Given the description of an element on the screen output the (x, y) to click on. 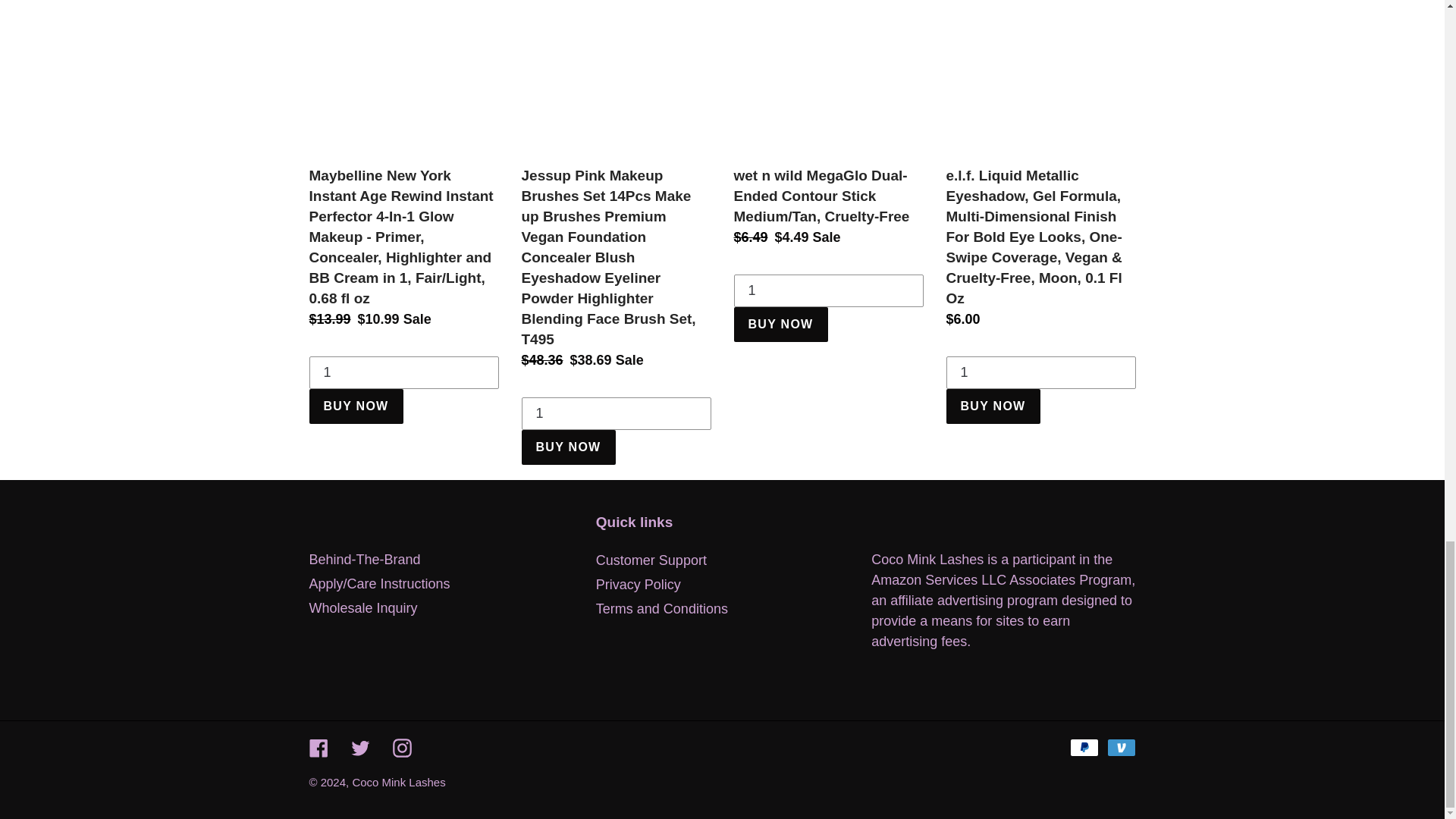
1 (828, 290)
1 (1040, 372)
1 (403, 372)
1 (616, 413)
